Given the description of an element on the screen output the (x, y) to click on. 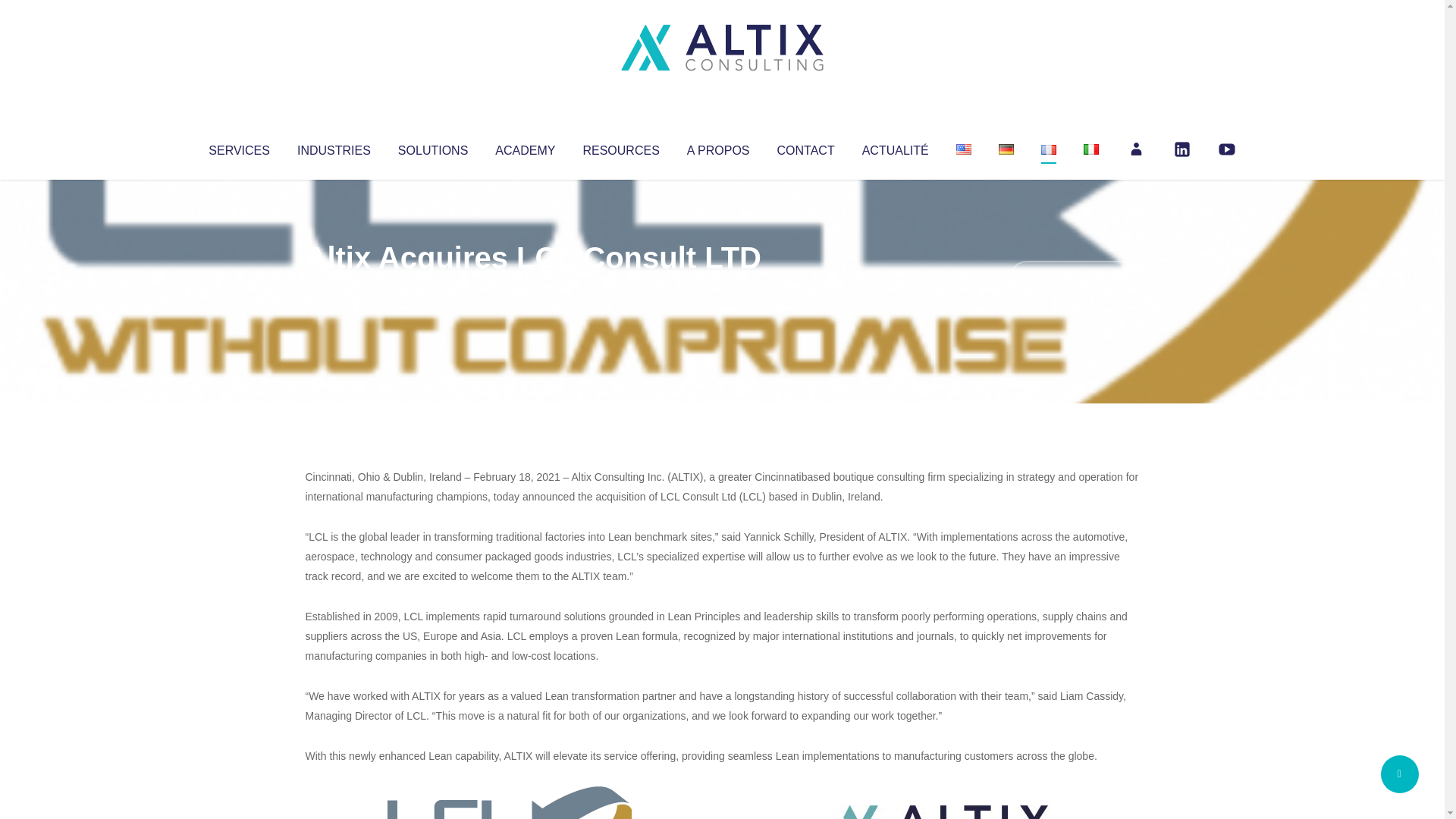
Uncategorized (530, 287)
No Comments (1073, 278)
SERVICES (238, 146)
ACADEMY (524, 146)
Altix (333, 287)
A PROPOS (718, 146)
INDUSTRIES (334, 146)
RESOURCES (620, 146)
SOLUTIONS (432, 146)
Articles par Altix (333, 287)
